Given the description of an element on the screen output the (x, y) to click on. 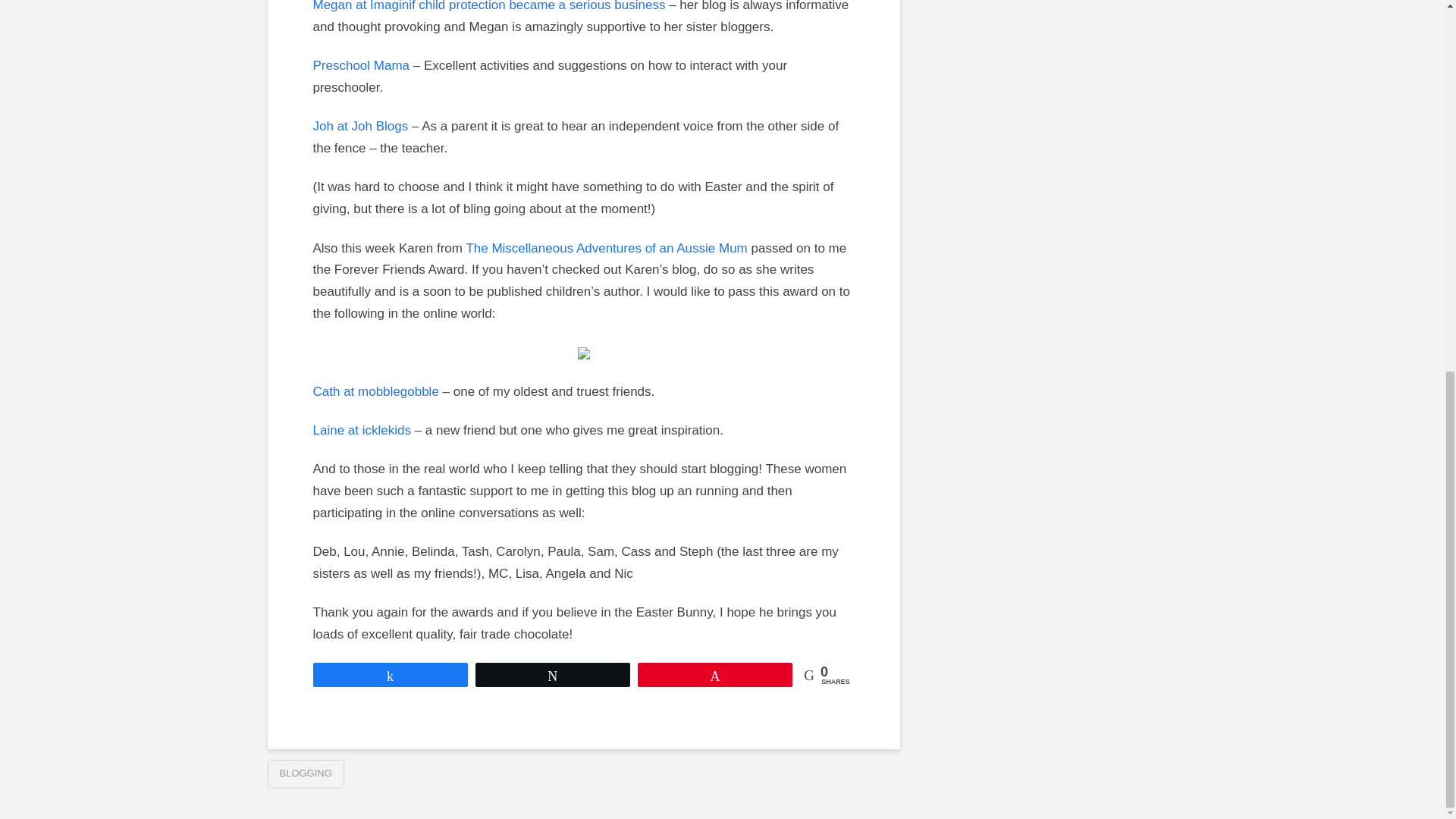
Laine at icklekids (361, 430)
Cath at mobblegobble (375, 391)
The Miscellaneous Adventures of an Aussie Mum (605, 247)
Preschool Mama (361, 65)
Joh at Joh Blogs (360, 125)
Megan at Imaginif child protection became a serious business (489, 6)
BLOGGING (304, 774)
